Given the description of an element on the screen output the (x, y) to click on. 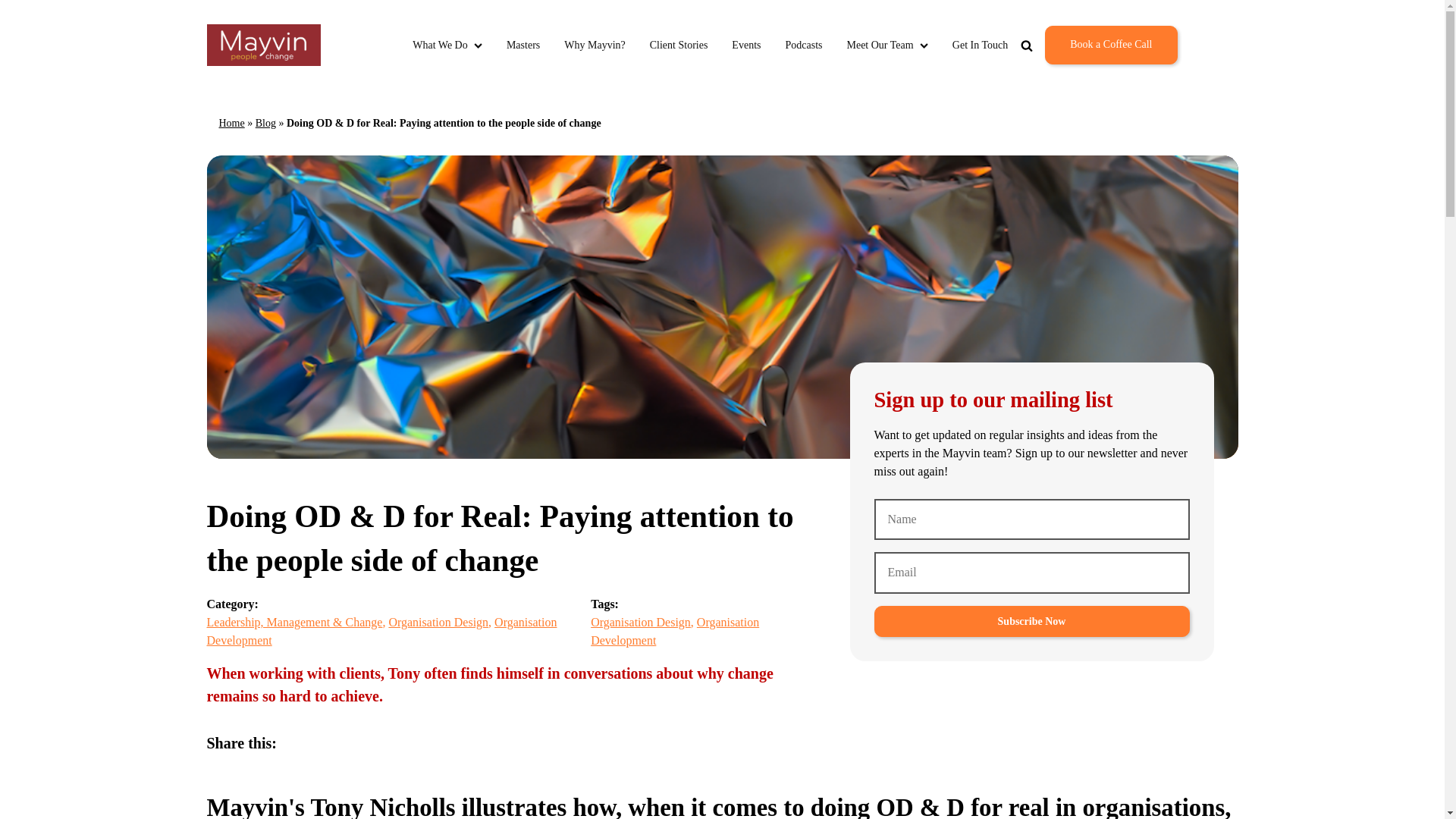
Organisation Design (437, 621)
Home (231, 122)
Events (746, 45)
Why Mayvin? (594, 45)
Organisation Design (640, 621)
Organisation Development (381, 631)
What We Do (446, 45)
Masters (523, 45)
Subscribe Now (1031, 621)
Blog (266, 122)
